Given the description of an element on the screen output the (x, y) to click on. 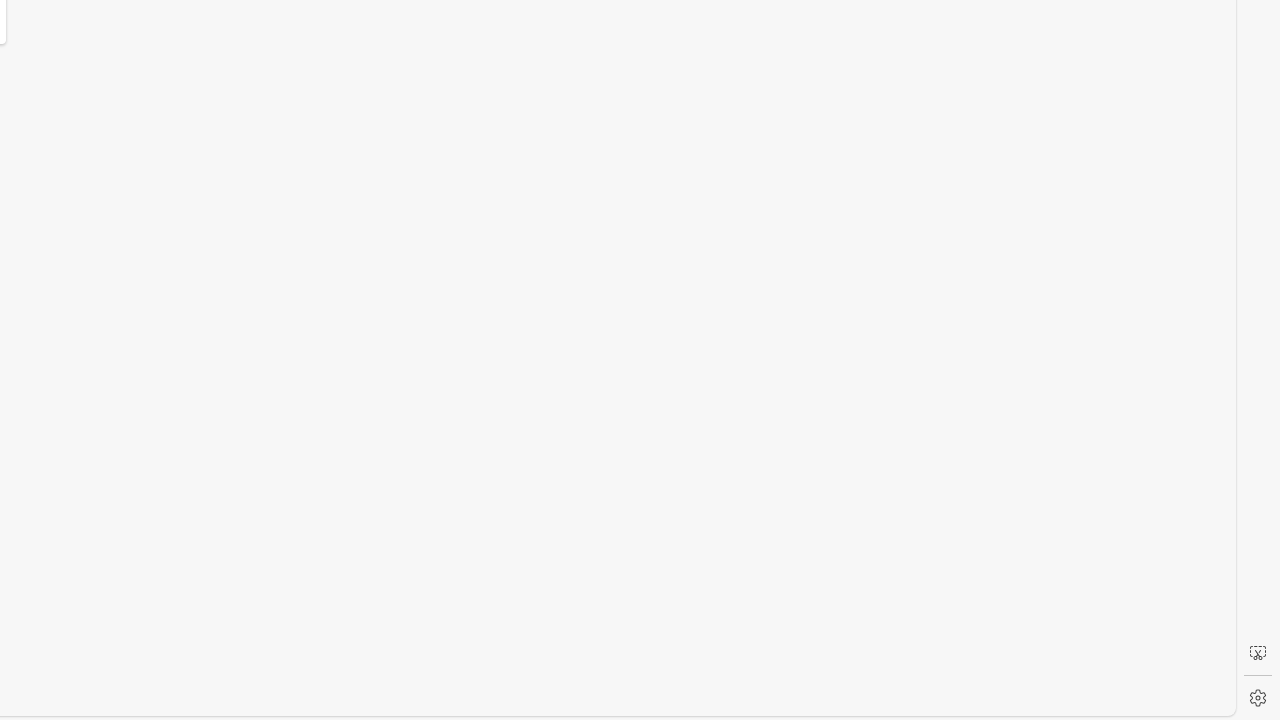
Screenshot Element type: push-button (1258, 653)
Settings Element type: push-button (1258, 698)
